Given the description of an element on the screen output the (x, y) to click on. 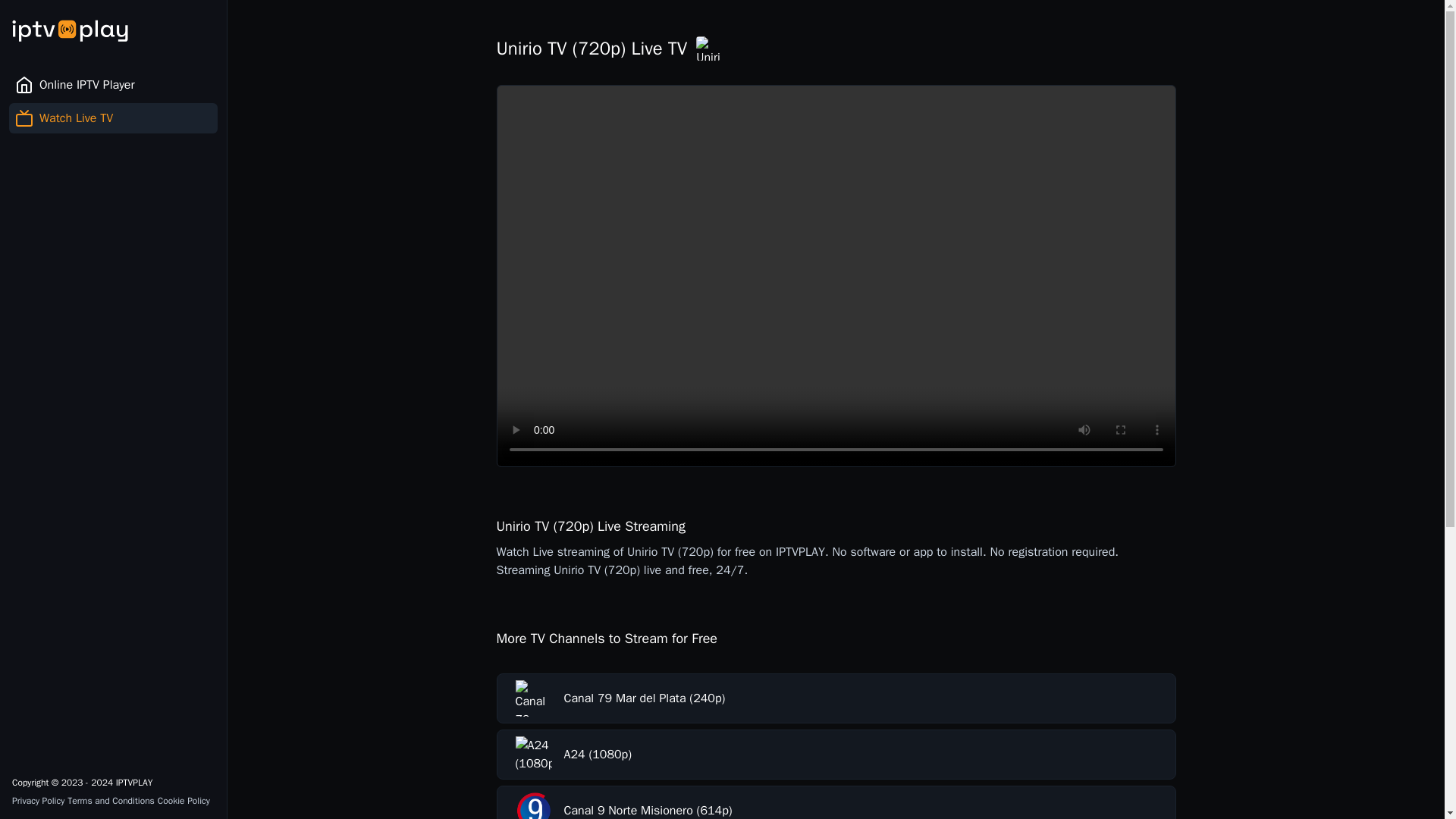
Cookie Policy (183, 800)
Online IPTV Player (125, 85)
Online IPTV Player (112, 85)
Watch Live TV (112, 117)
Terms and Conditions (110, 800)
Watch Live TV (125, 117)
Privacy Policy (37, 800)
Watch Live TV (112, 117)
Online IPTV Player (112, 85)
